Given the description of an element on the screen output the (x, y) to click on. 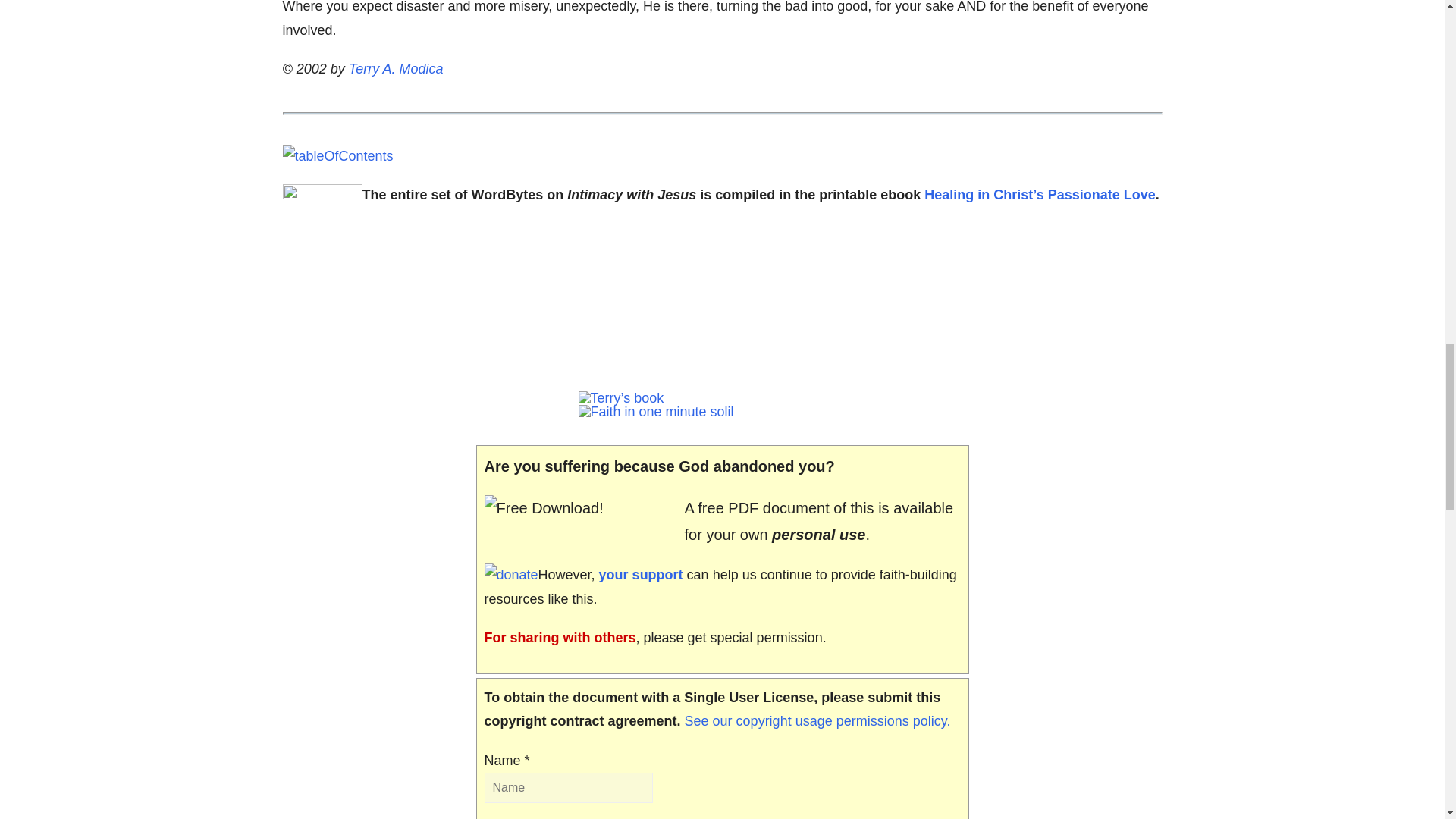
Faith in one minute solil (655, 411)
Table of Contents (337, 155)
